Given the description of an element on the screen output the (x, y) to click on. 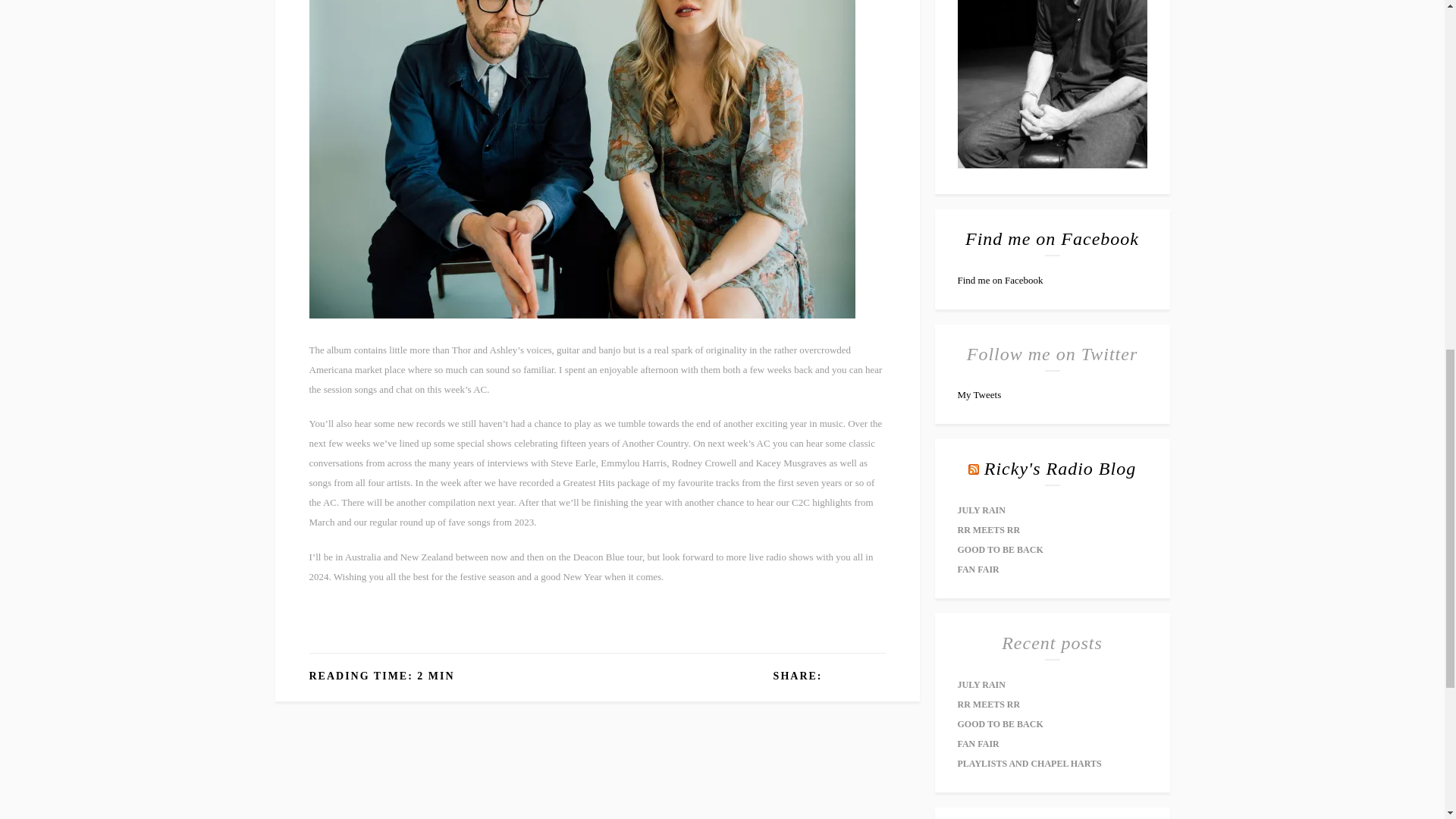
Ricky's Radio Blog (1059, 468)
Find me on Facebook (999, 279)
My Tweets (978, 394)
JULY RAIN (980, 684)
Find me on Facebook (1051, 238)
GOOD TO BE BACK (999, 549)
FAN FAIR (977, 569)
RR MEETS RR (988, 529)
JULY RAIN (980, 510)
